Given the description of an element on the screen output the (x, y) to click on. 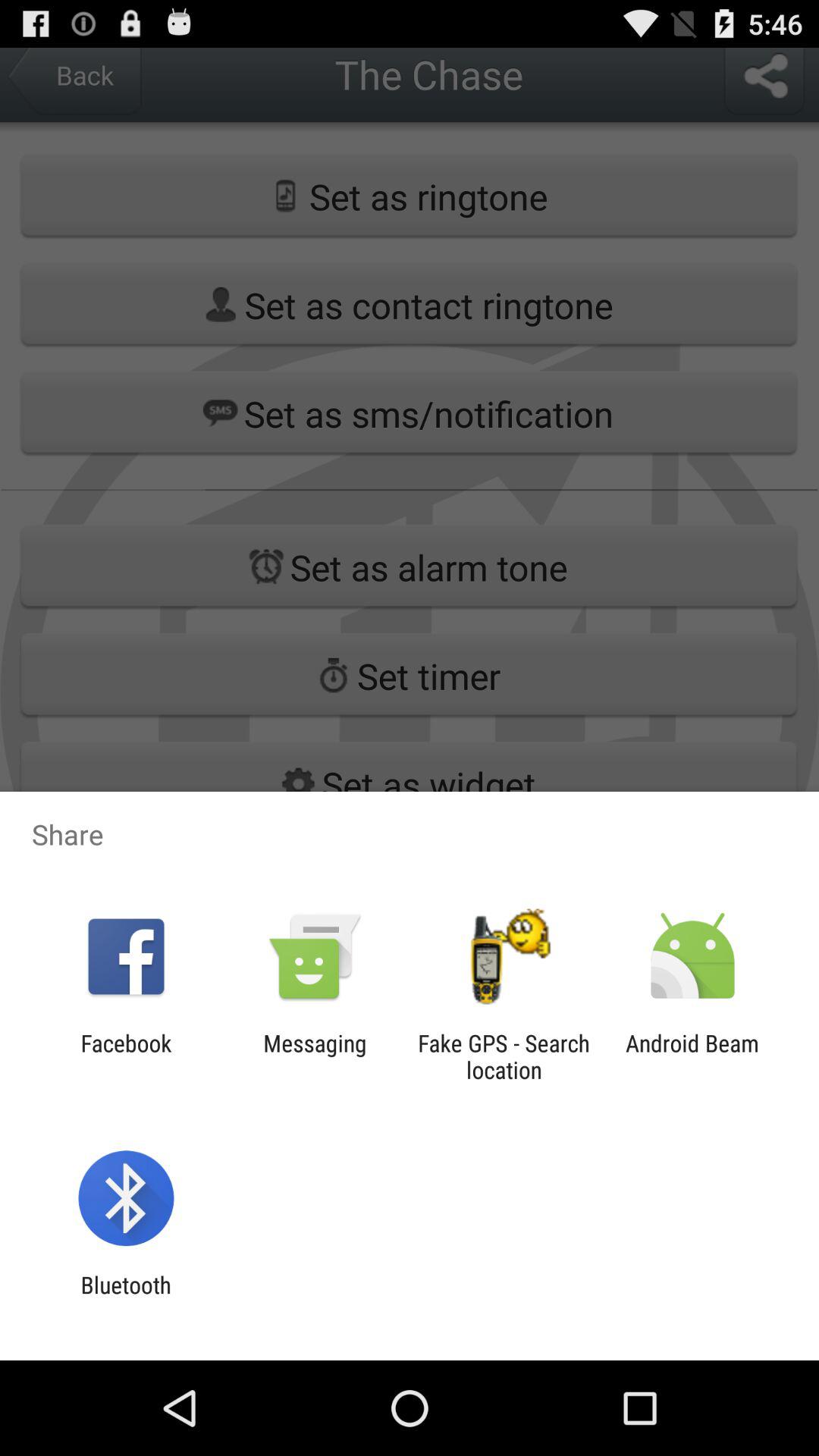
tap icon to the right of the messaging icon (503, 1056)
